Given the description of an element on the screen output the (x, y) to click on. 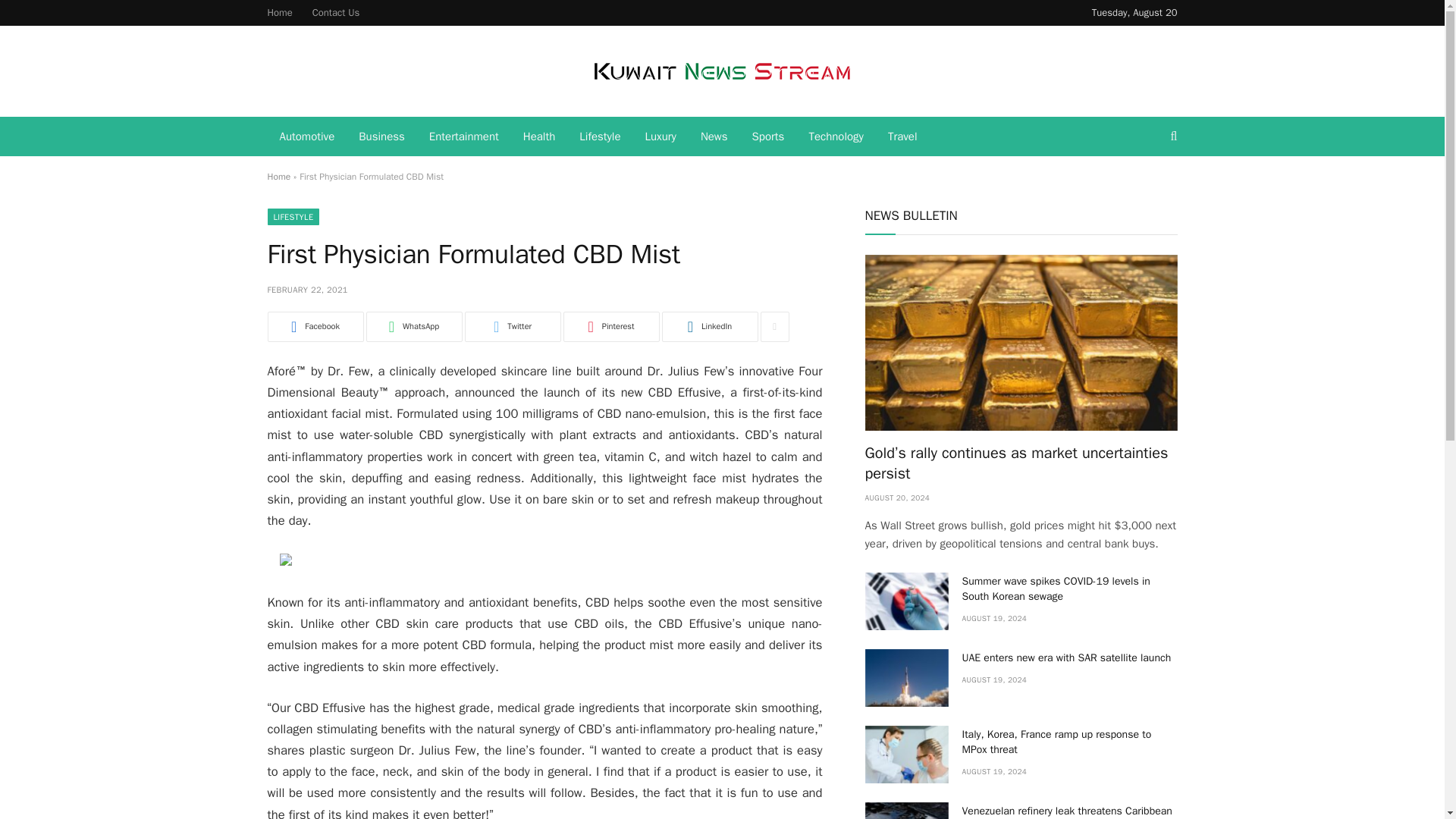
Contact Us (335, 12)
Luxury (660, 136)
Share on WhatsApp (413, 327)
Kuwait News Stream (722, 71)
Health (539, 136)
Entertainment (463, 136)
Travel (903, 136)
LIFESTYLE (292, 216)
Lifestyle (599, 136)
Home (277, 176)
